Given the description of an element on the screen output the (x, y) to click on. 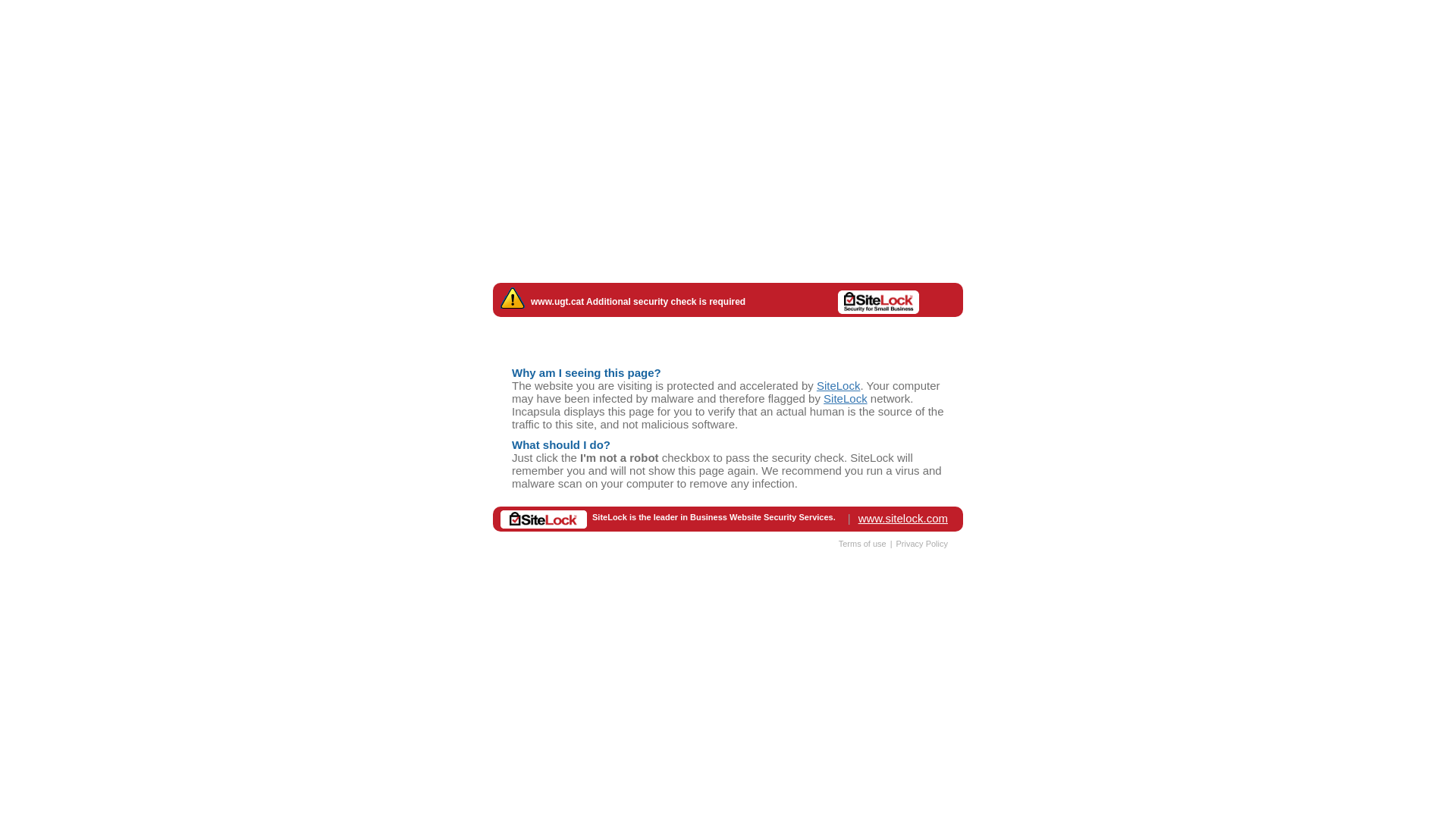
Terms of use Element type: text (862, 542)
SiteLock Element type: text (838, 385)
www.sitelock.com Element type: text (902, 517)
Privacy Policy Element type: text (921, 542)
SiteLock Element type: text (845, 397)
